Given the description of an element on the screen output the (x, y) to click on. 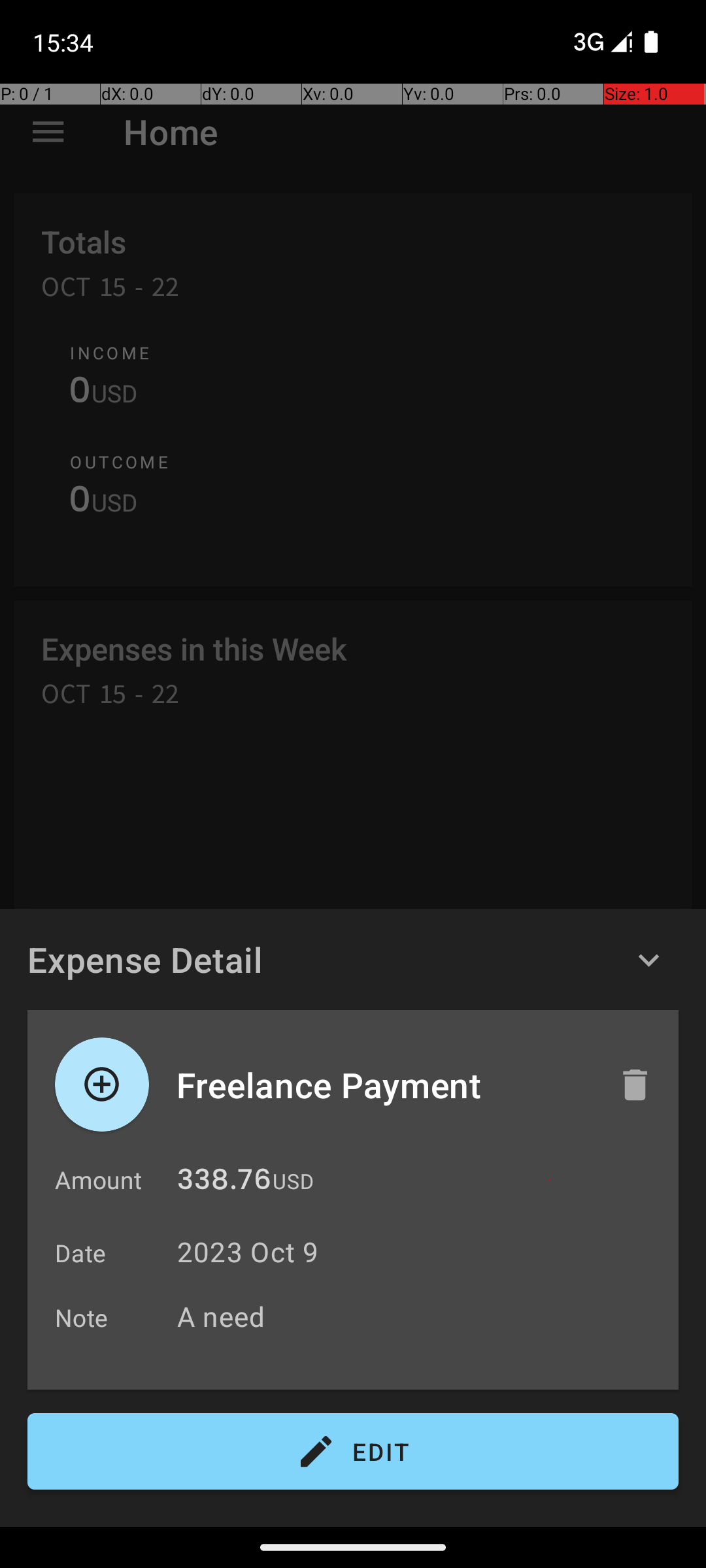
338.76 Element type: android.widget.TextView (223, 1182)
2023 Oct 9 Element type: android.widget.TextView (247, 1251)
